Given the description of an element on the screen output the (x, y) to click on. 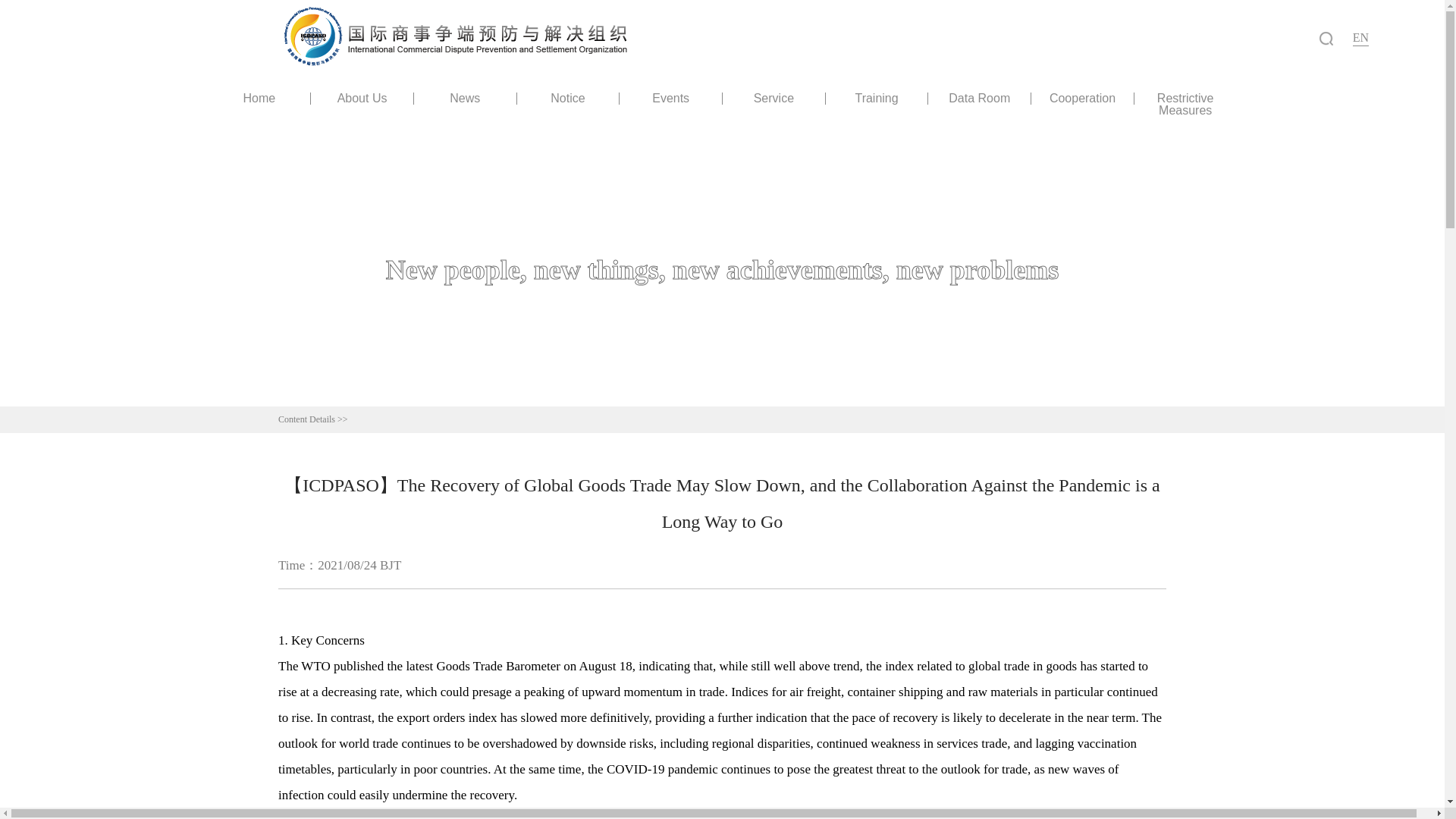
Events (671, 98)
Home (259, 98)
Data Room (979, 98)
Training (876, 98)
About Us (362, 98)
News (464, 98)
7.7 billion appeal (915, 816)
Restrictive Measures (1185, 104)
Service (773, 98)
Notice (568, 98)
Cooperation (1082, 98)
